Given the description of an element on the screen output the (x, y) to click on. 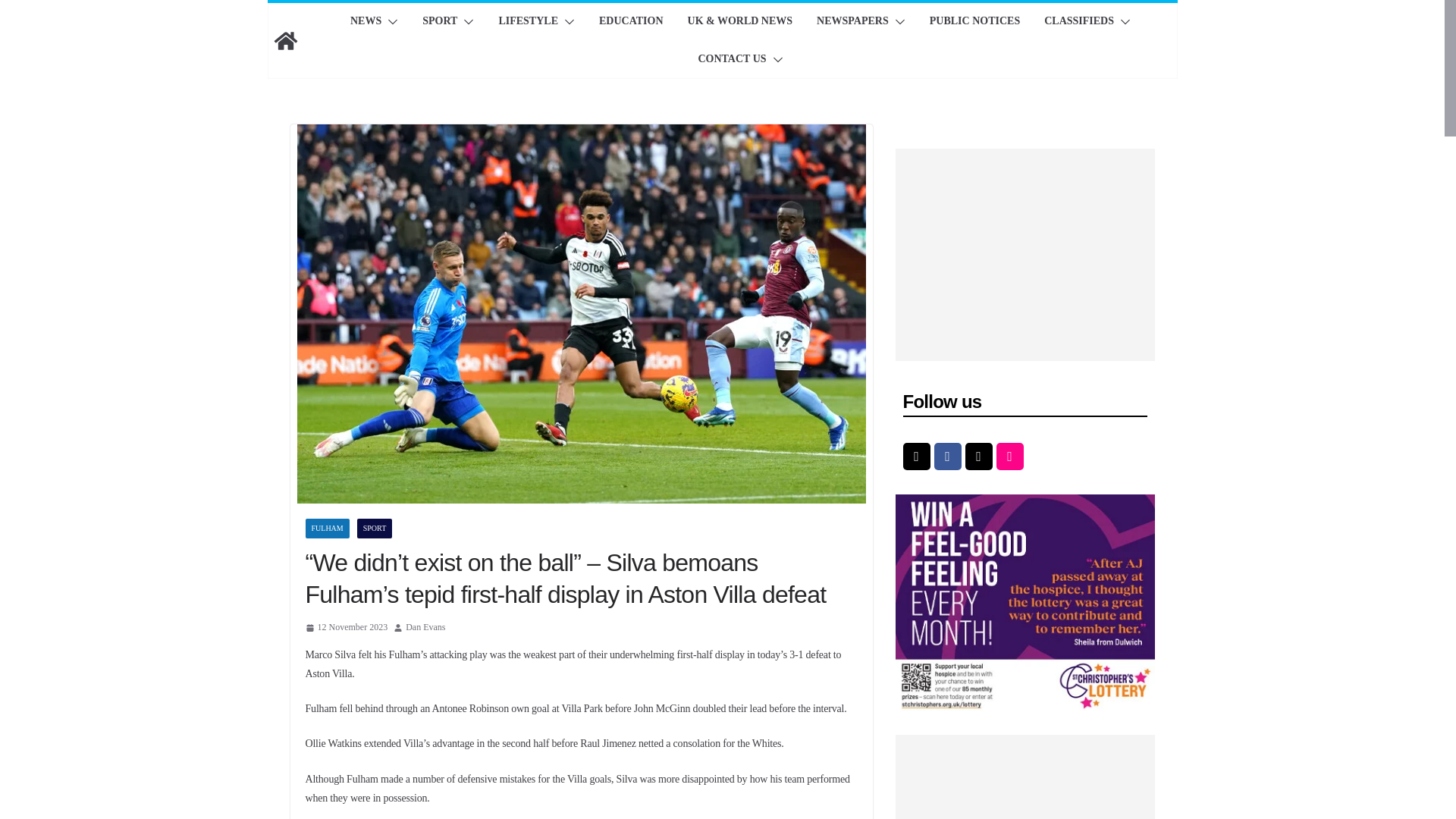
LIFESTYLE (527, 21)
SPORT (439, 21)
Advertisement (1024, 776)
Dan Evans (425, 627)
19:19 (345, 627)
South London News (284, 40)
NEWS (365, 21)
Advertisement (1024, 254)
